Given the description of an element on the screen output the (x, y) to click on. 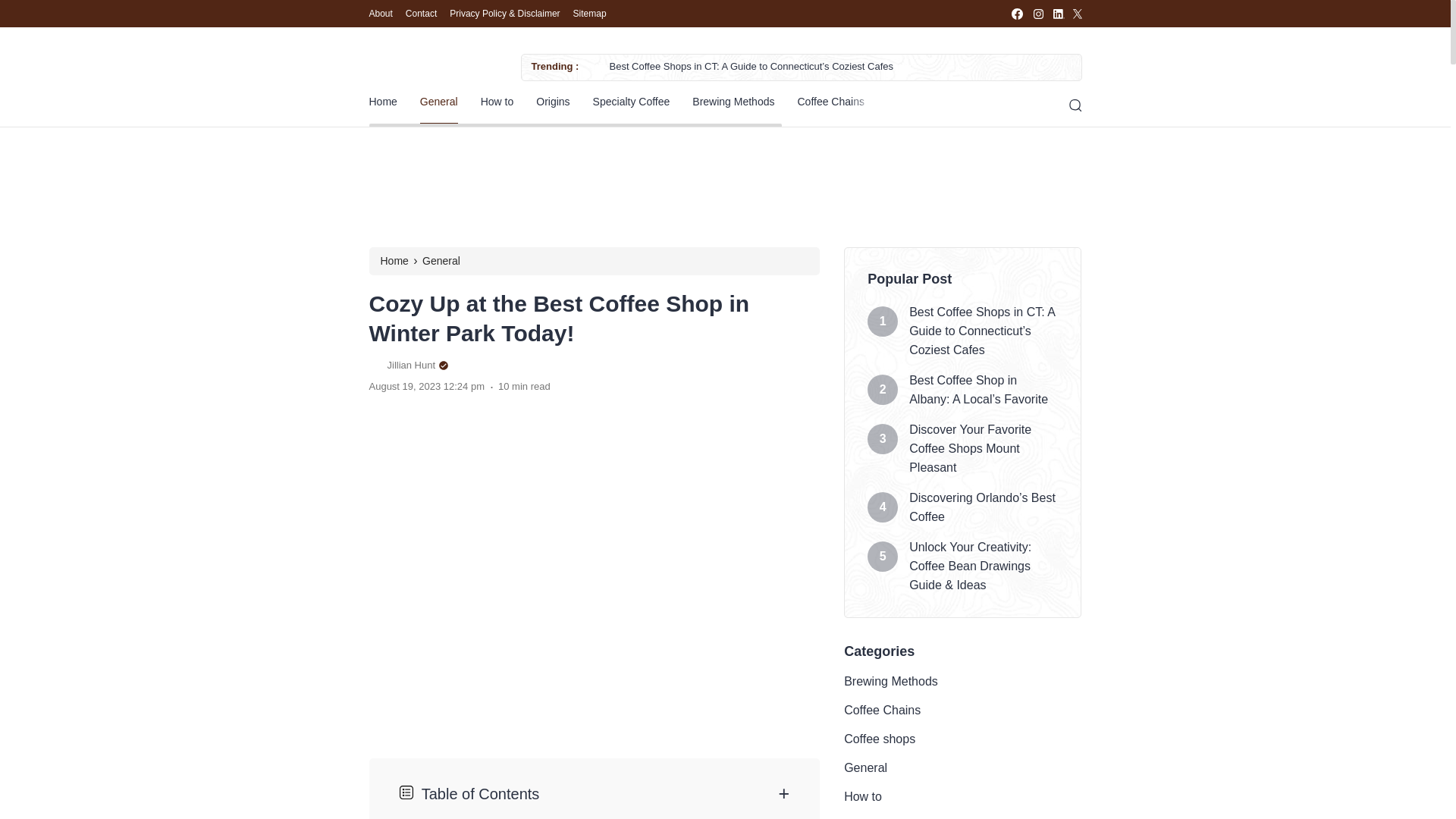
Brewing Methods (733, 102)
Coffee shops (917, 102)
Specialty Coffee (630, 102)
About (379, 13)
General (439, 102)
Coffee Chains (829, 102)
Contact (421, 13)
Sitemap (590, 13)
